Given the description of an element on the screen output the (x, y) to click on. 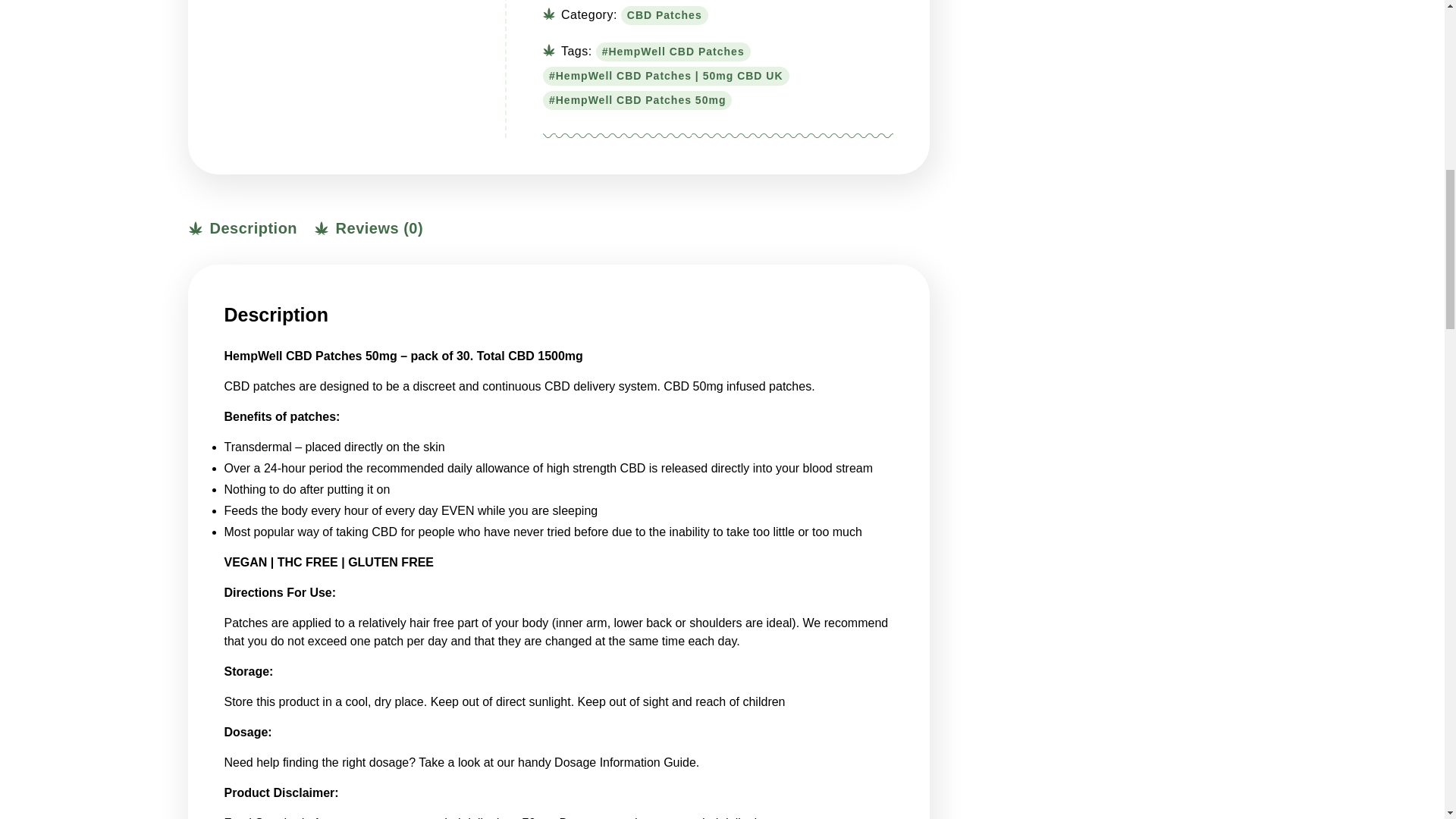
CBD Patches (664, 15)
Description (242, 230)
HempWell CBD Patches (673, 51)
HempWell CBD Patches 50mg (637, 99)
